Given the description of an element on the screen output the (x, y) to click on. 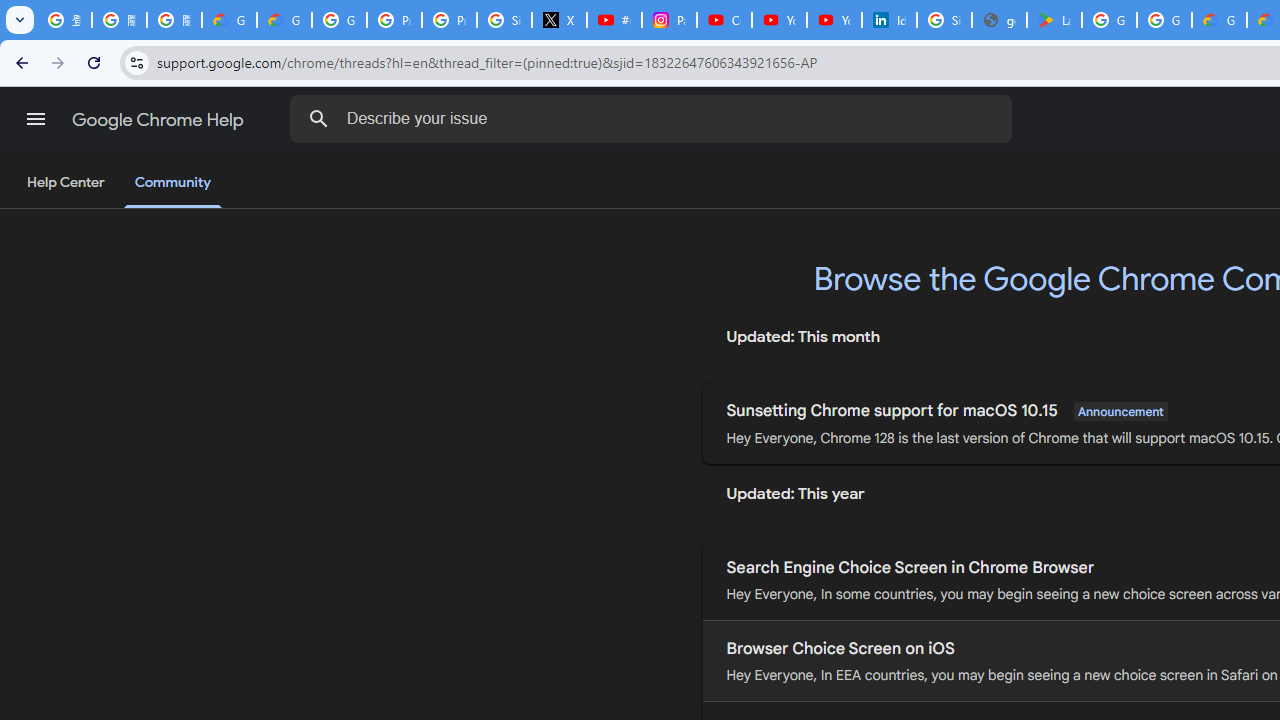
Help Center (65, 183)
X (559, 20)
Google Chrome Help (159, 119)
Identity verification via Persona | LinkedIn Help (888, 20)
Community (171, 183)
Privacy Help Center - Policies Help (449, 20)
Government | Google Cloud (1218, 20)
